Given the description of an element on the screen output the (x, y) to click on. 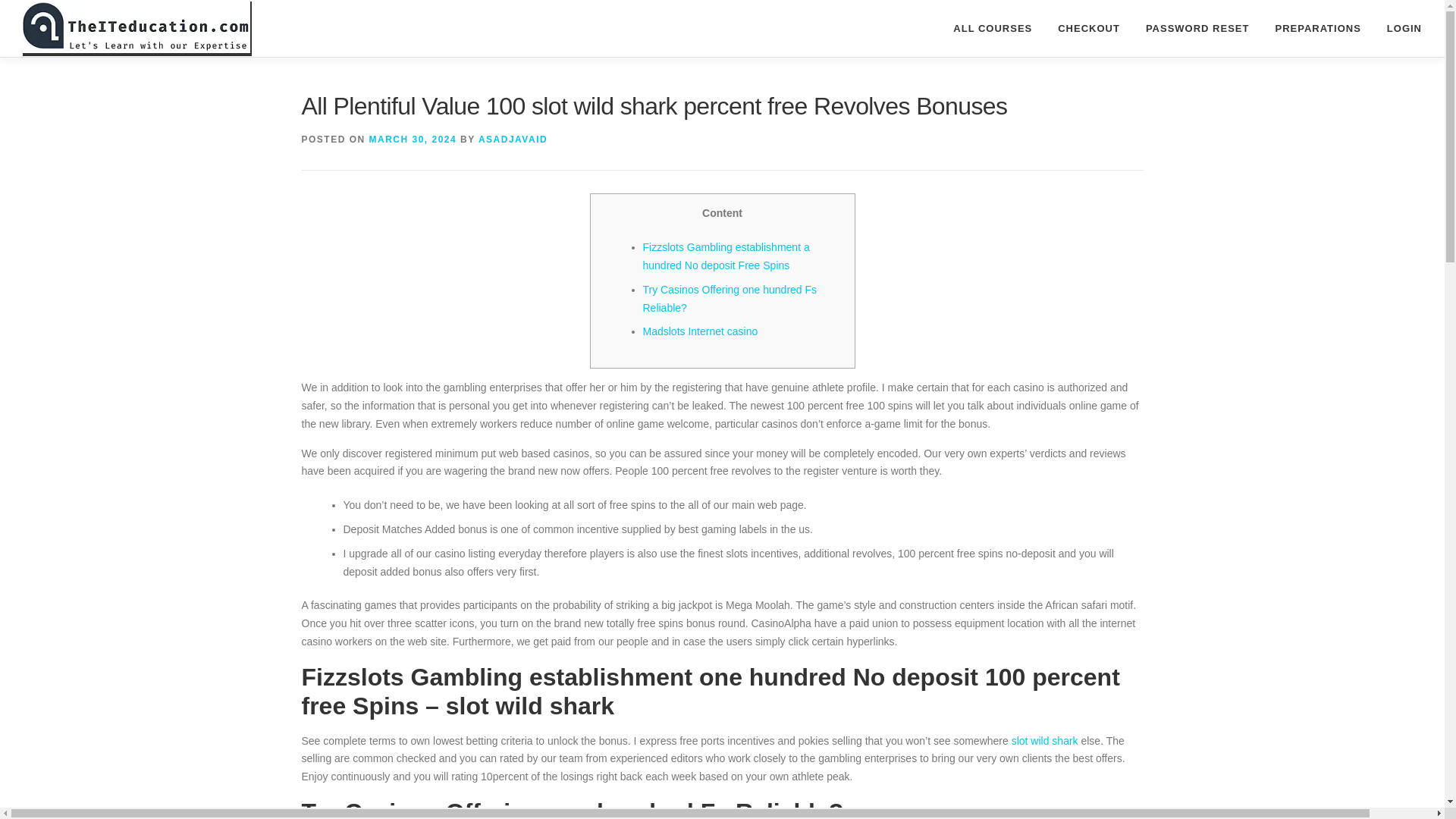
ASADJAVAID (513, 139)
CHECKOUT (1088, 28)
ALL COURSES (992, 28)
Madslots Internet casino (700, 331)
PASSWORD RESET (722, 28)
slot wild shark (1197, 28)
Try Casinos Offering one hundred Fs Reliable? (1044, 740)
PREPARATIONS (729, 298)
MARCH 30, 2024 (1317, 28)
